Given the description of an element on the screen output the (x, y) to click on. 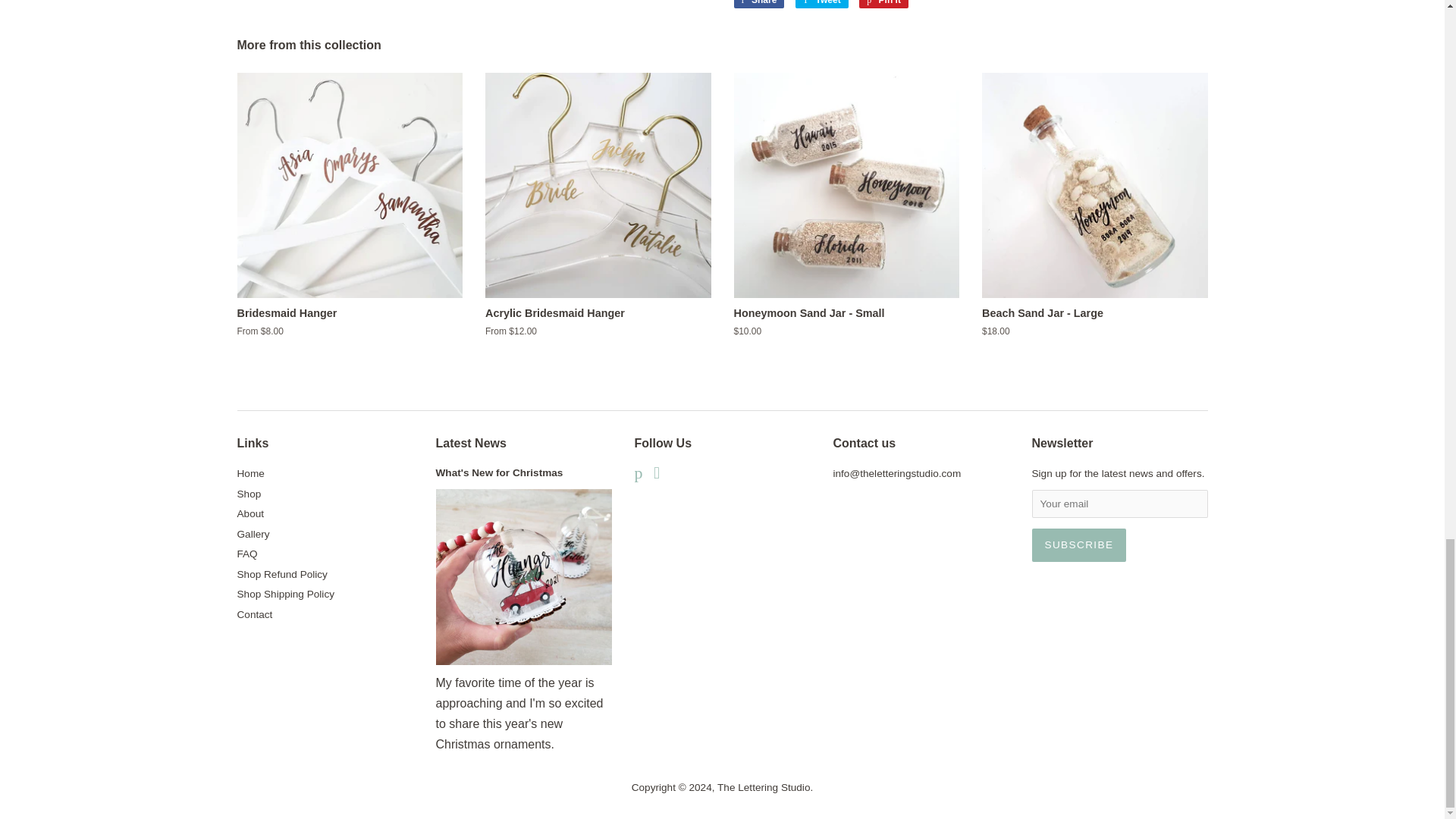
Share on Facebook (758, 4)
Pin on Pinterest (883, 4)
Tweet on Twitter (821, 4)
Subscribe (1077, 544)
